Given the description of an element on the screen output the (x, y) to click on. 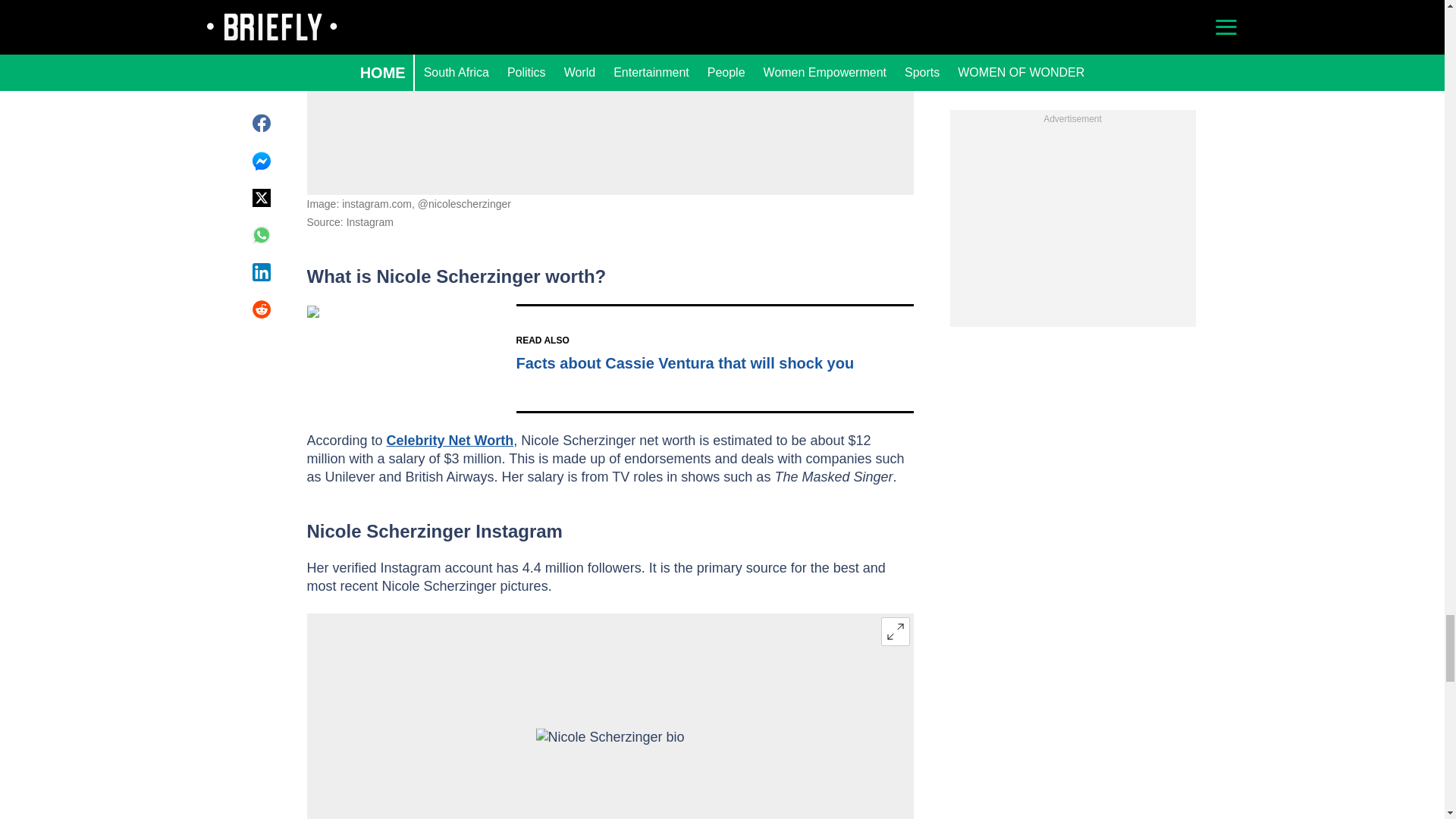
Nicole Scherzinger bio (609, 58)
Nicole Scherzinger bio (609, 773)
Expand image (895, 631)
